Given the description of an element on the screen output the (x, y) to click on. 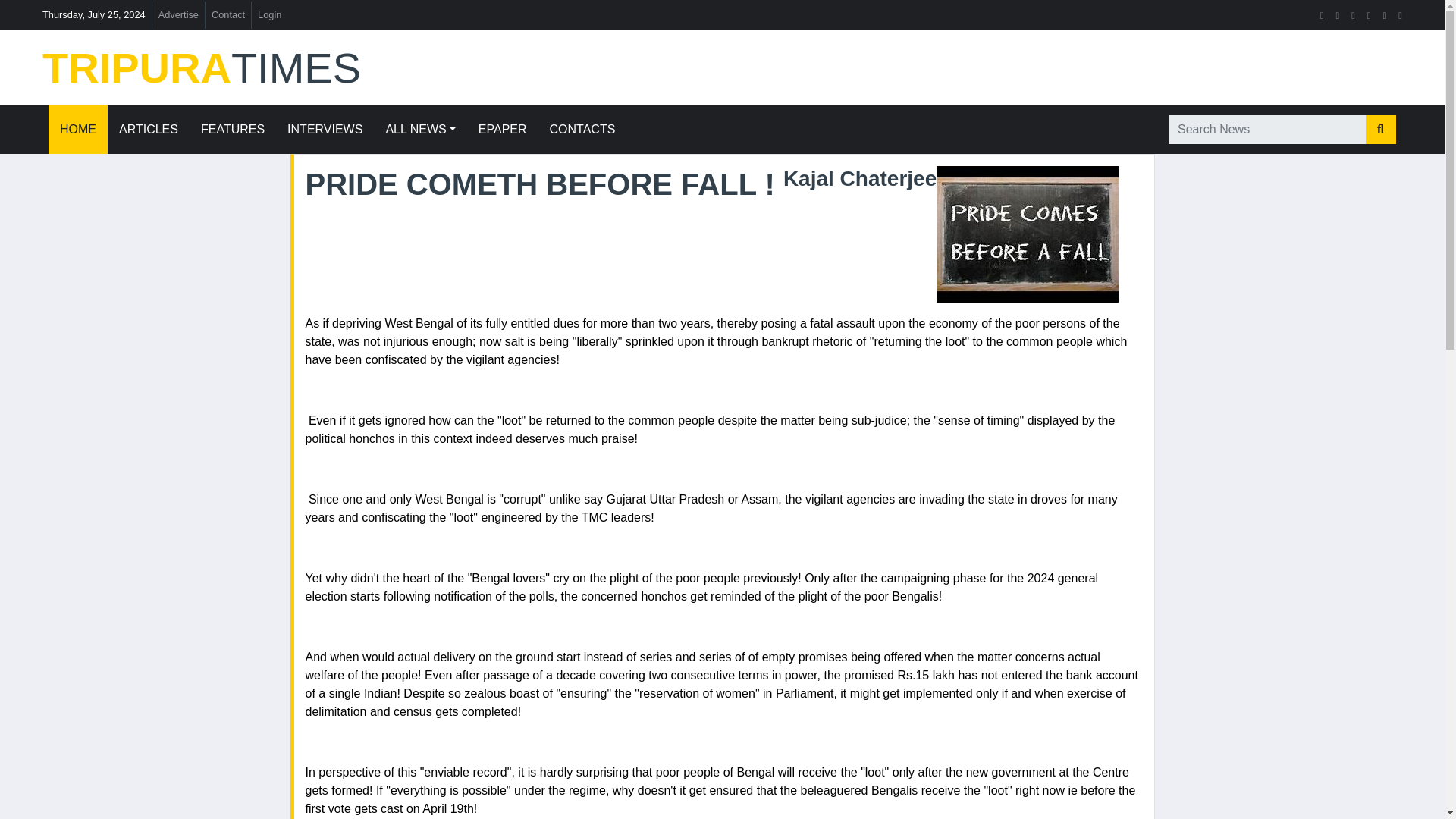
ALL NEWS (419, 129)
FEATURES (232, 129)
INTERVIEWS (325, 129)
Advertise (178, 14)
EPAPER (502, 129)
TRIPURATIMES (259, 67)
ARTICLES (148, 129)
HOME (77, 129)
CONTACTS (582, 129)
Thursday, July 25, 2024 (93, 14)
Contact (227, 14)
Login (268, 14)
